Given the description of an element on the screen output the (x, y) to click on. 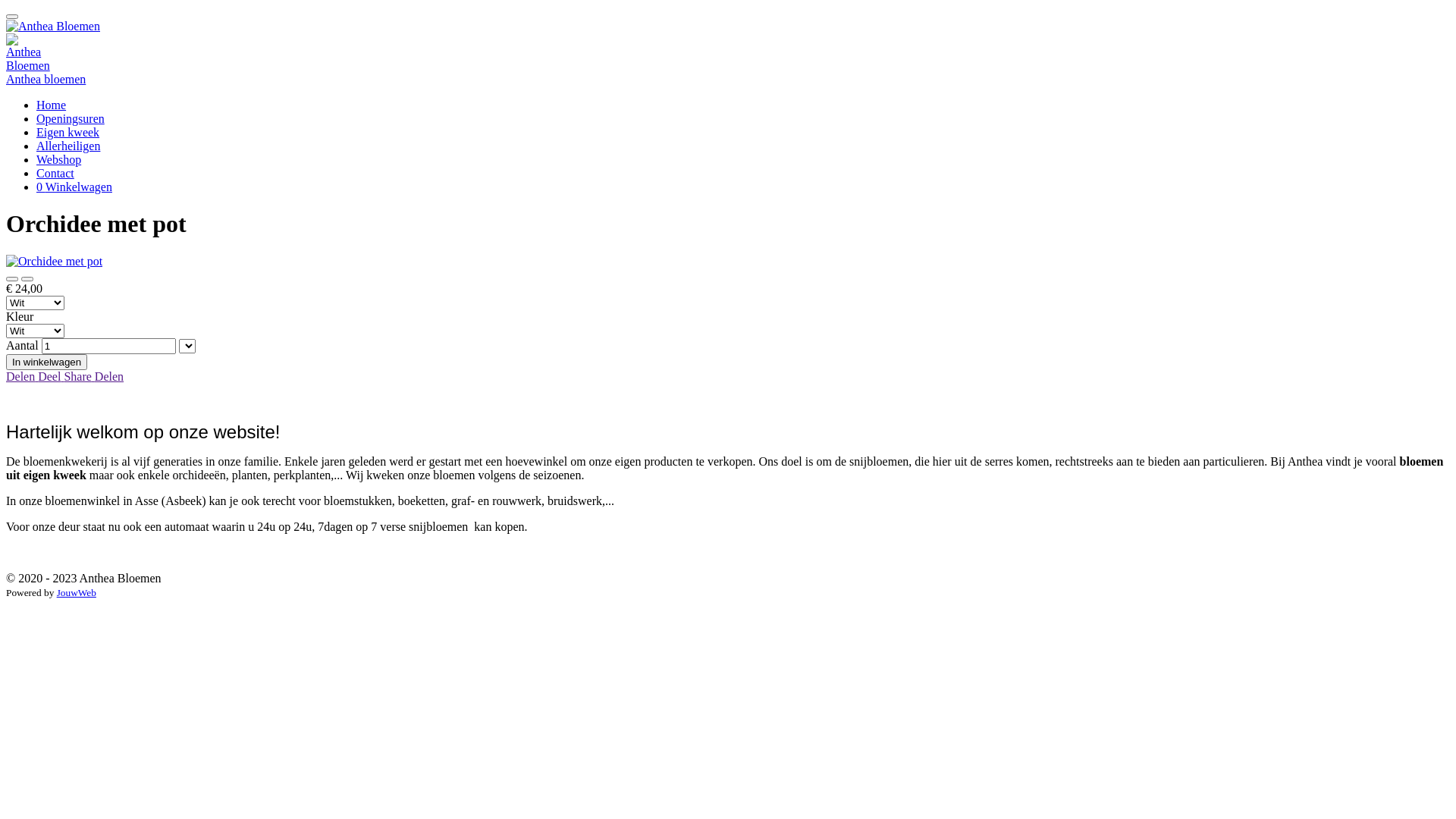
In winkelwagen Element type: text (46, 362)
Deel Element type: text (50, 376)
Delen Element type: text (108, 376)
Anthea Bloemen Element type: hover (53, 26)
0 Winkelwagen Element type: text (74, 186)
JouwWeb Element type: text (76, 592)
Anthea bloemen Element type: text (45, 78)
Webshop Element type: text (58, 159)
Delen Element type: text (21, 376)
Home Element type: text (50, 104)
Eigen kweek Element type: text (67, 131)
Anthea Bloemen Element type: hover (28, 52)
Share Element type: text (78, 376)
Openingsuren Element type: text (70, 118)
Allerheiligen Element type: text (68, 145)
Contact Element type: text (55, 172)
